Given the description of an element on the screen output the (x, y) to click on. 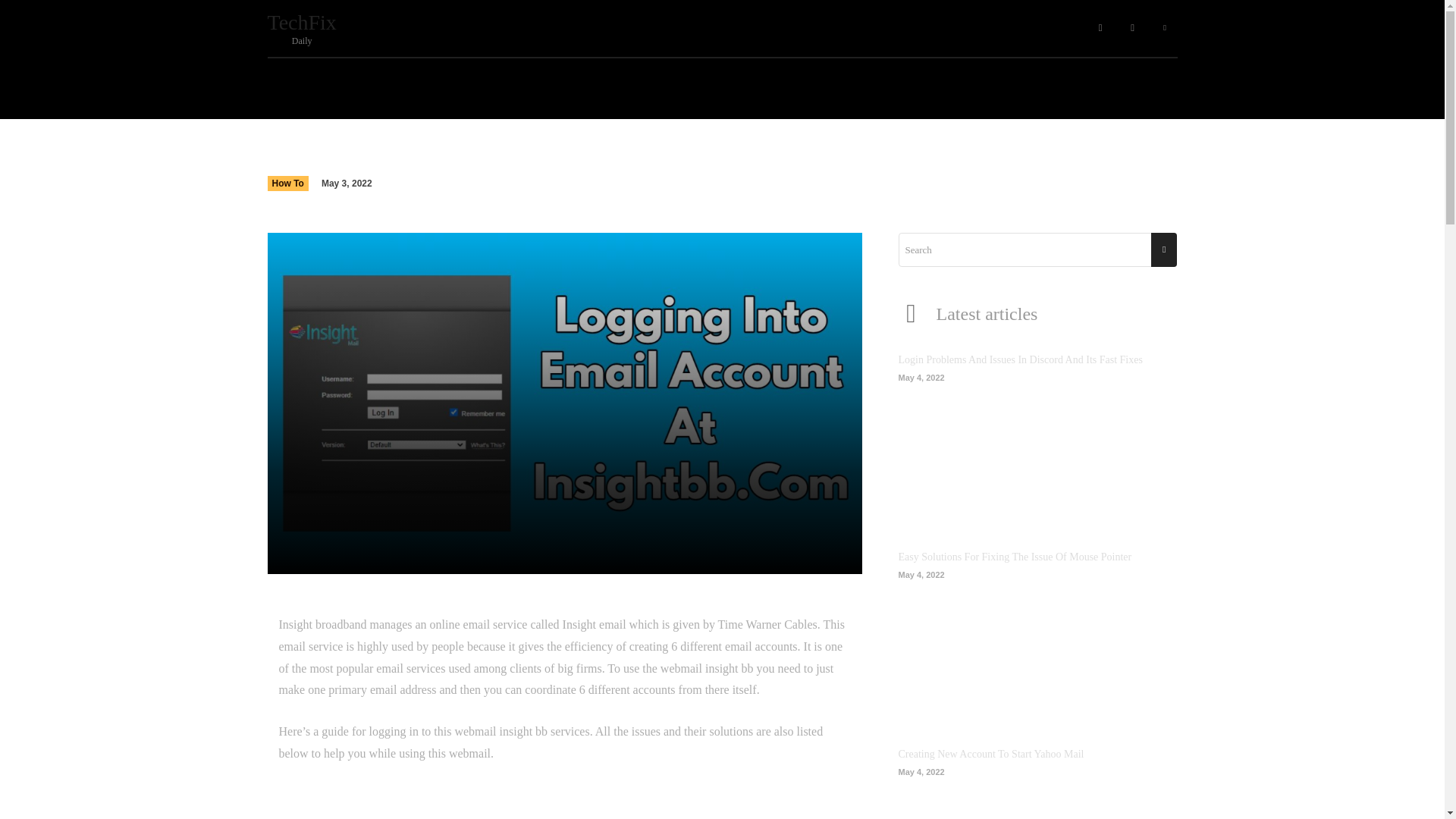
Login Problems And Issues In Discord And Its Fast Fixes (1019, 359)
How To (286, 183)
Login Problems And Issues In Discord And Its Fast Fixes (1037, 450)
Creating New Account To Start Yahoo Mail (1037, 796)
Creating New Account To Start Yahoo Mail (990, 754)
Easy Solutions For Fixing The Issue Of Mouse Pointer (1014, 556)
Easy Solutions For Fixing The Issue Of Mouse Pointer (1037, 647)
Login Problems And Issues In Discord And Its Fast Fixes (343, 28)
